Given the description of an element on the screen output the (x, y) to click on. 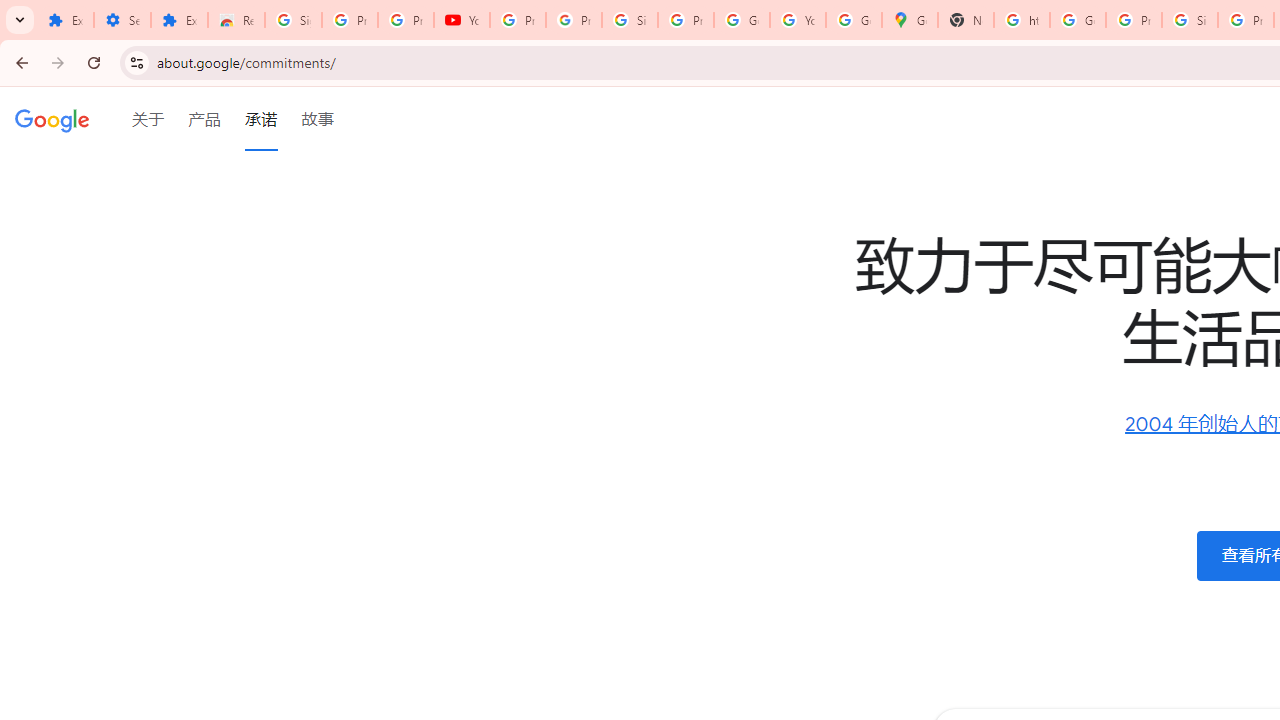
https://scholar.google.com/ (1021, 20)
New Tab (966, 20)
YouTube (797, 20)
Google Maps (909, 20)
